Given the description of an element on the screen output the (x, y) to click on. 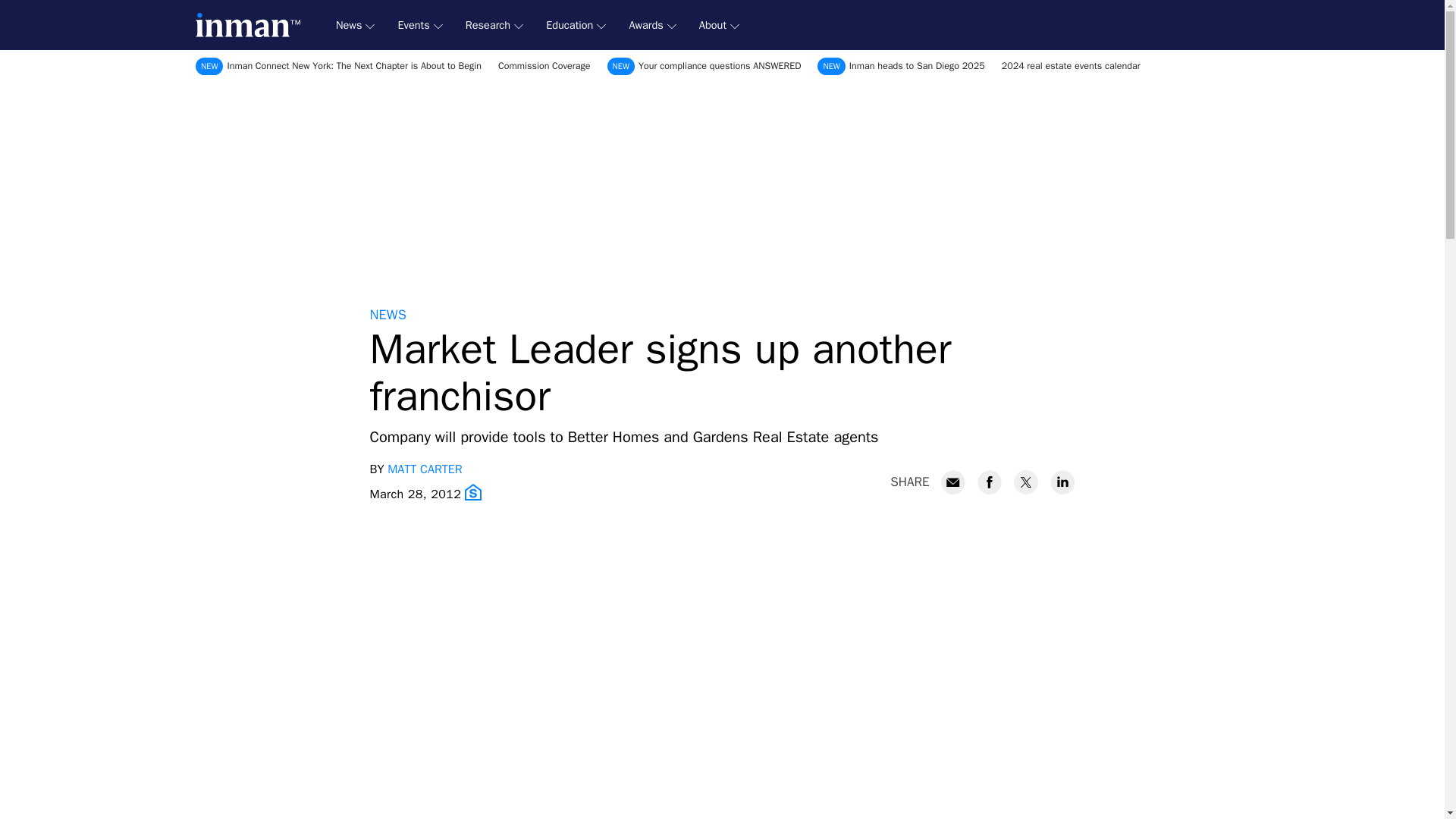
Research (493, 25)
Education (575, 25)
Awards (651, 25)
News (355, 25)
Events (419, 25)
